Given the description of an element on the screen output the (x, y) to click on. 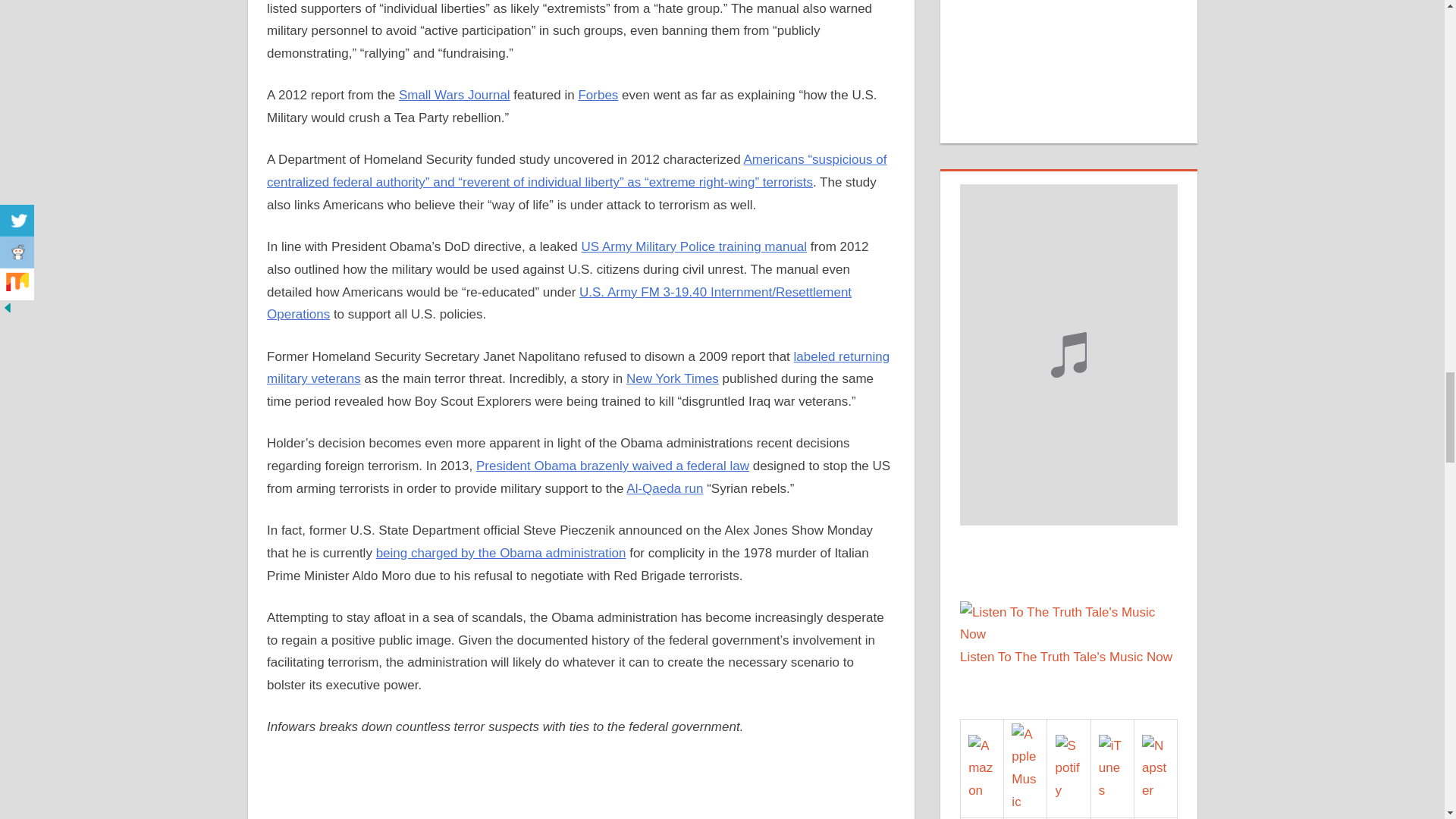
President Obama brazenly waived a federal law (612, 465)
Forbes (597, 94)
Al-Qaeda run (664, 488)
US Army Military Police training manual (693, 246)
Small Wars Journal (454, 94)
being charged by the Obama administration (500, 553)
labeled returning military veterans (577, 367)
New York Times (672, 378)
